Given the description of an element on the screen output the (x, y) to click on. 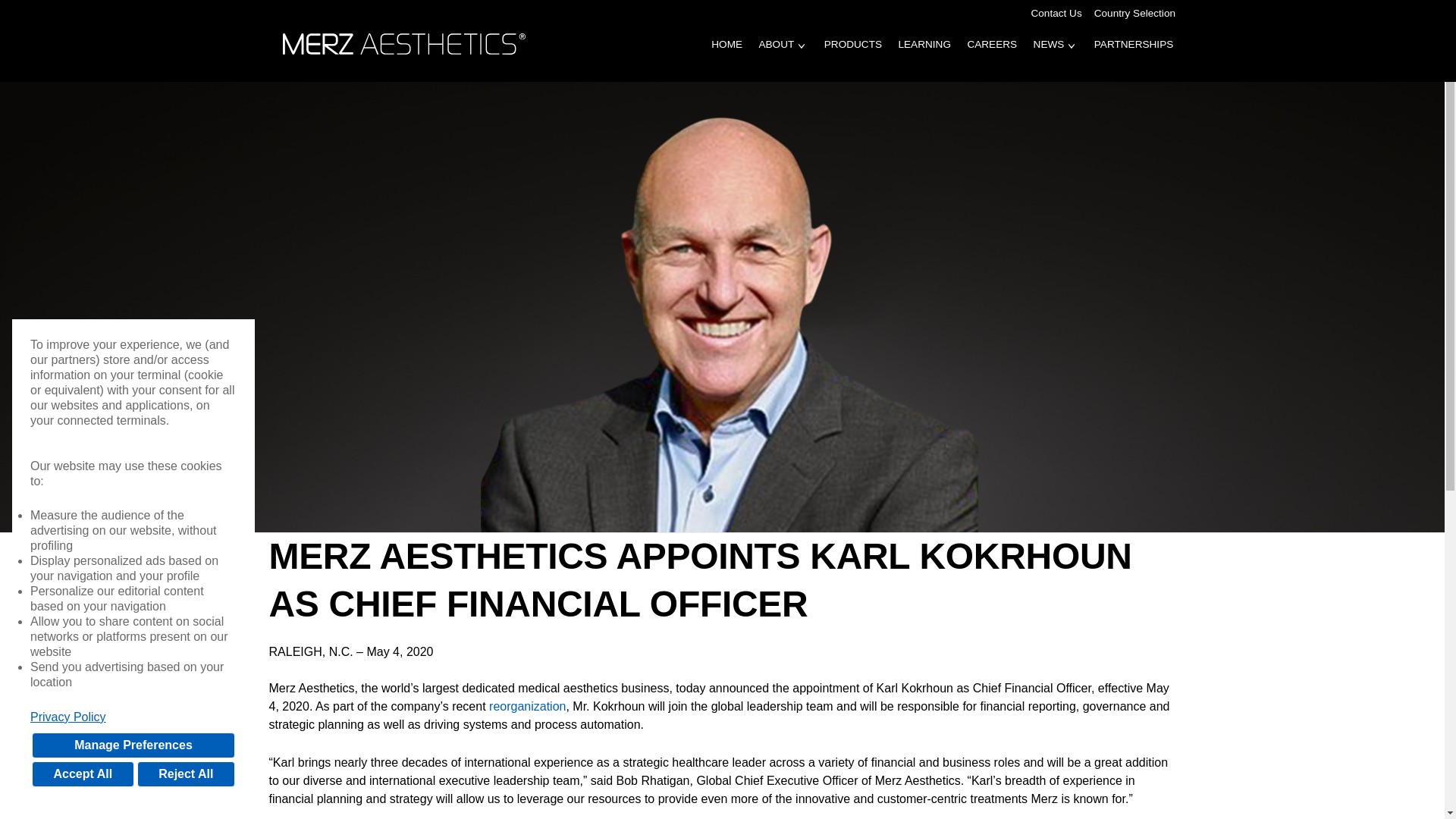
LEARNING (924, 54)
PARTNERSHIPS (1133, 54)
Privacy Policy (132, 717)
Skip to content (55, 4)
CAREERS (992, 54)
Accept All (82, 774)
Reject All (185, 774)
Contact Us (1056, 13)
reorganization (527, 706)
Manage Preferences (133, 745)
Home (407, 42)
ABOUT (776, 54)
PRODUCTS (852, 54)
Country Selection (1133, 13)
